Given the description of an element on the screen output the (x, y) to click on. 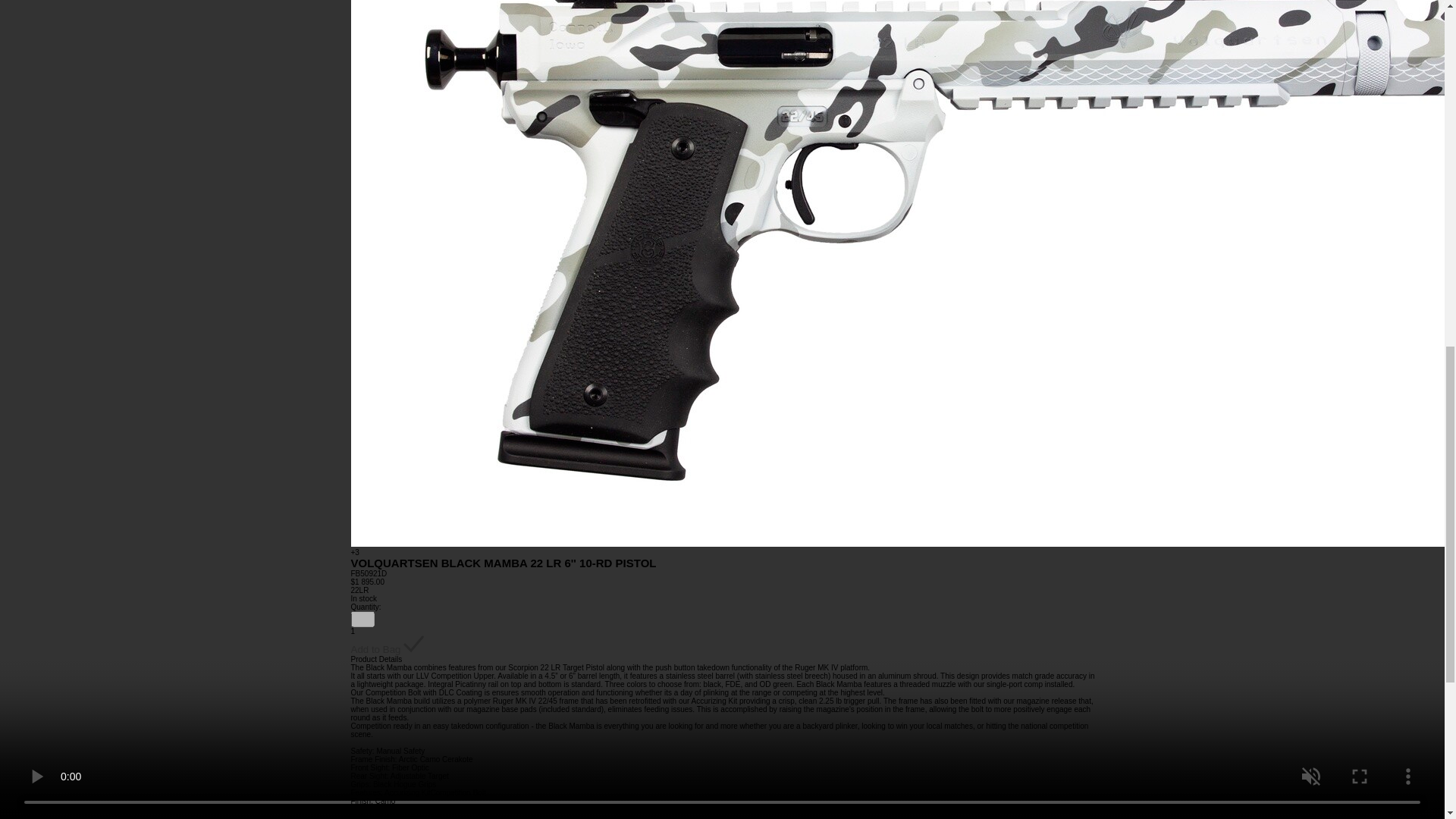
Add to Bag (386, 645)
